Given the description of an element on the screen output the (x, y) to click on. 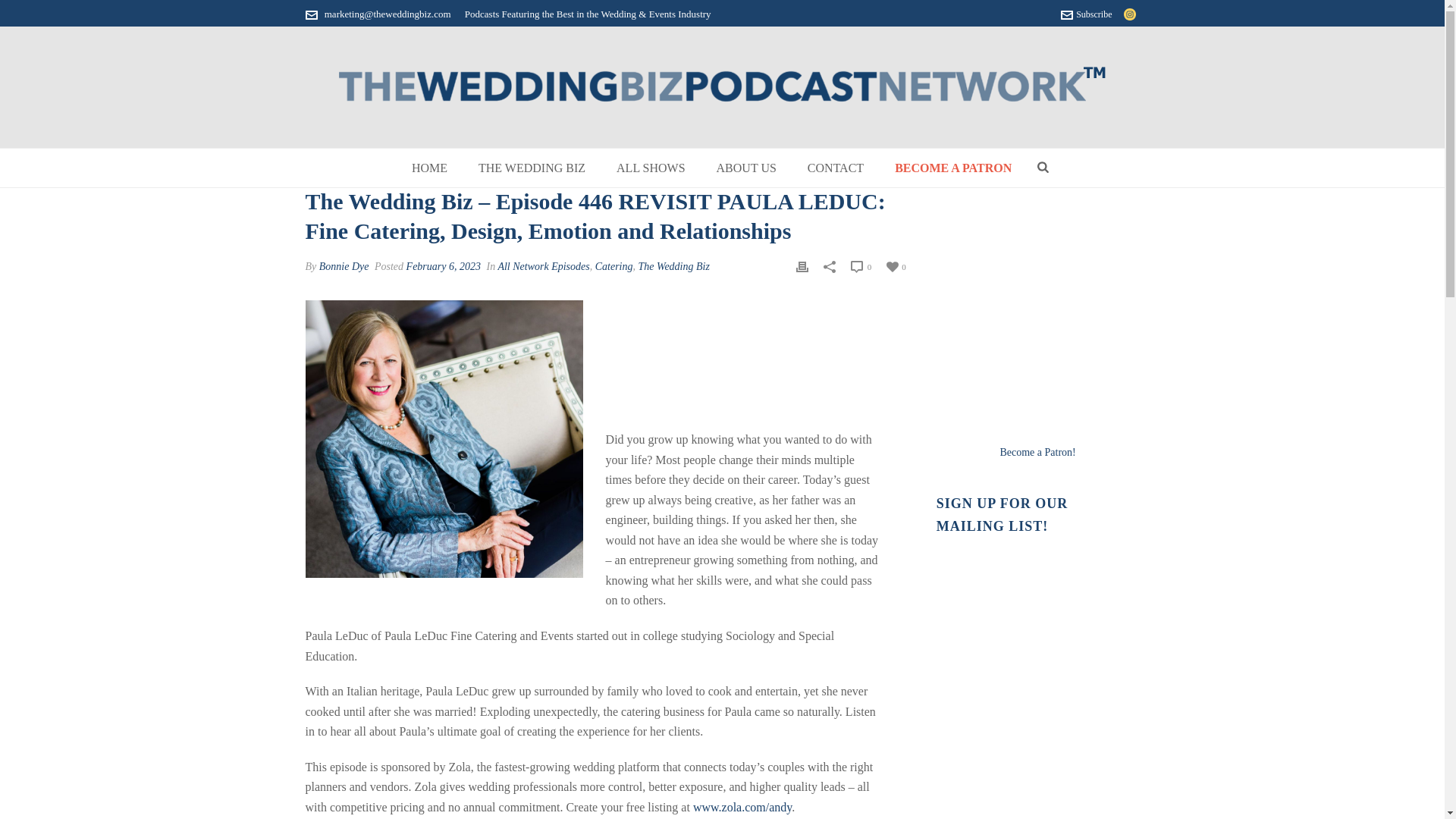
CONTACT (835, 167)
ABOUT US (746, 167)
BECOME A PATRON (952, 167)
ALL SHOWS (650, 167)
Posts by Bonnie Dye (343, 266)
HOME (429, 167)
HOME (429, 167)
0 (860, 266)
CONTACT (835, 167)
ABOUT US (746, 167)
